Given the description of an element on the screen output the (x, y) to click on. 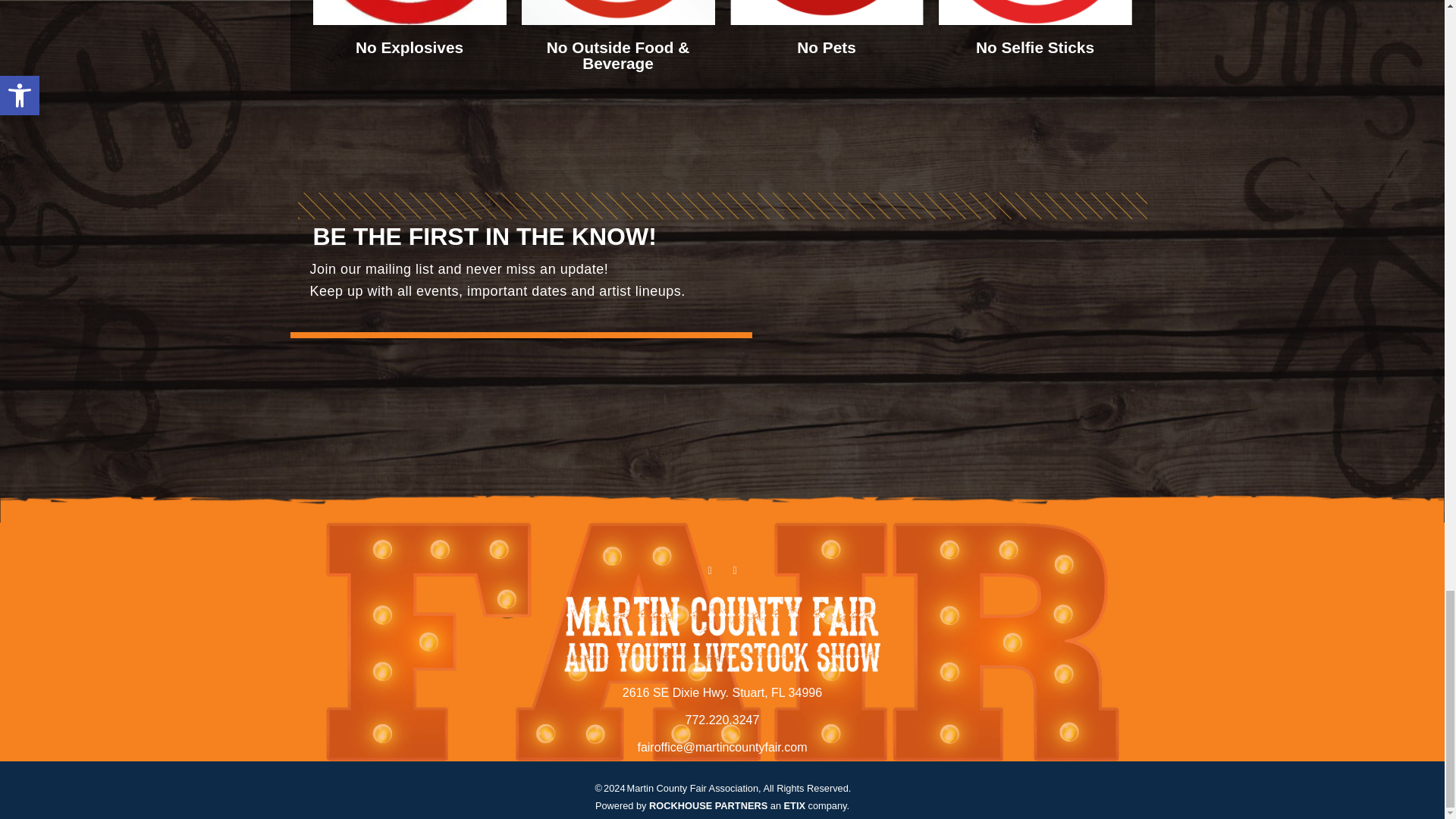
Subscription form (948, 337)
slanted-lines-gold.png (722, 205)
Powered by ROCKHOUSE PARTNERS an ETIX company. (721, 805)
